Given the description of an element on the screen output the (x, y) to click on. 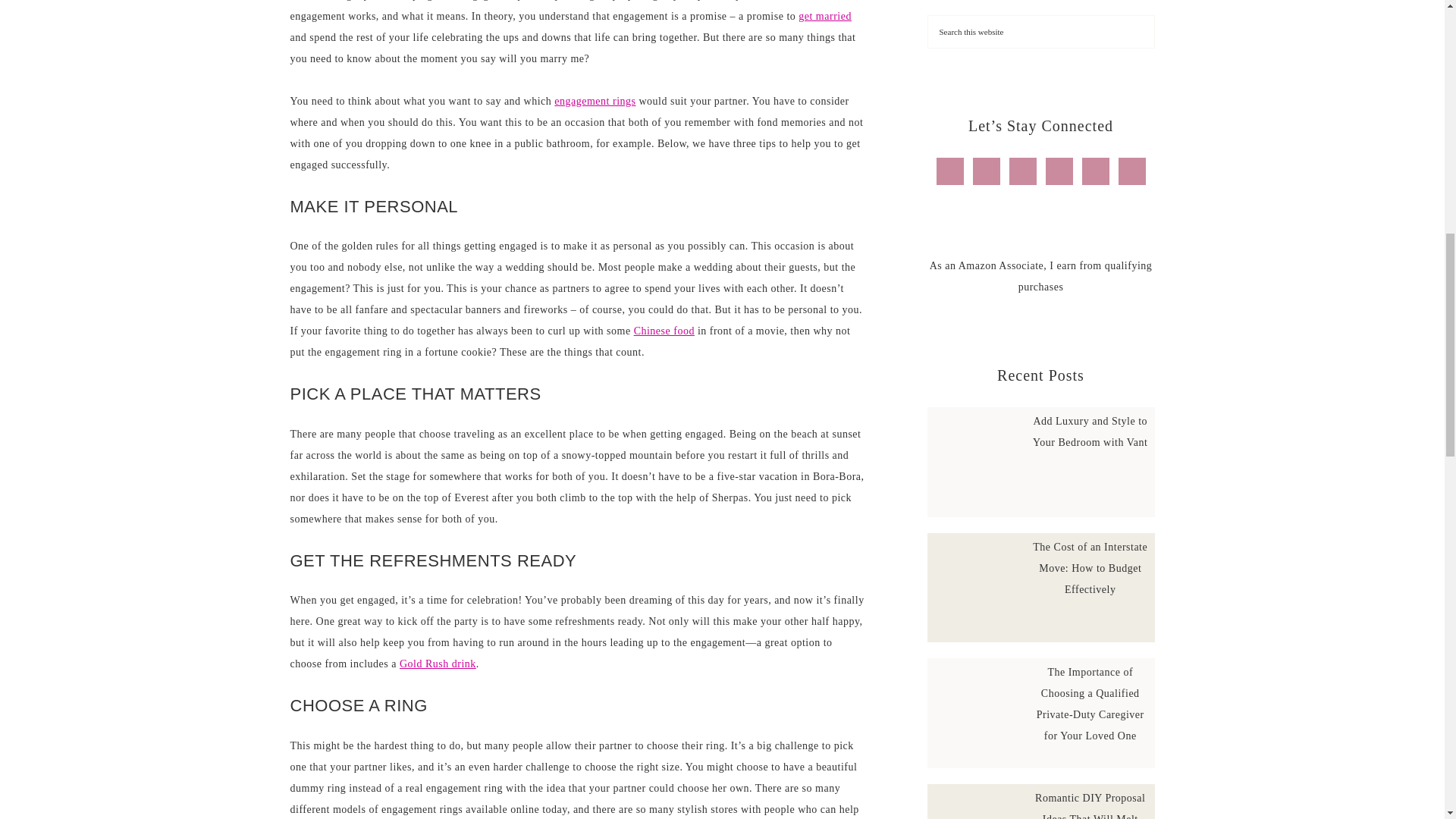
Gold Rush drink (437, 663)
engagement rings (594, 101)
get married (824, 16)
Chinese food (663, 330)
